Given the description of an element on the screen output the (x, y) to click on. 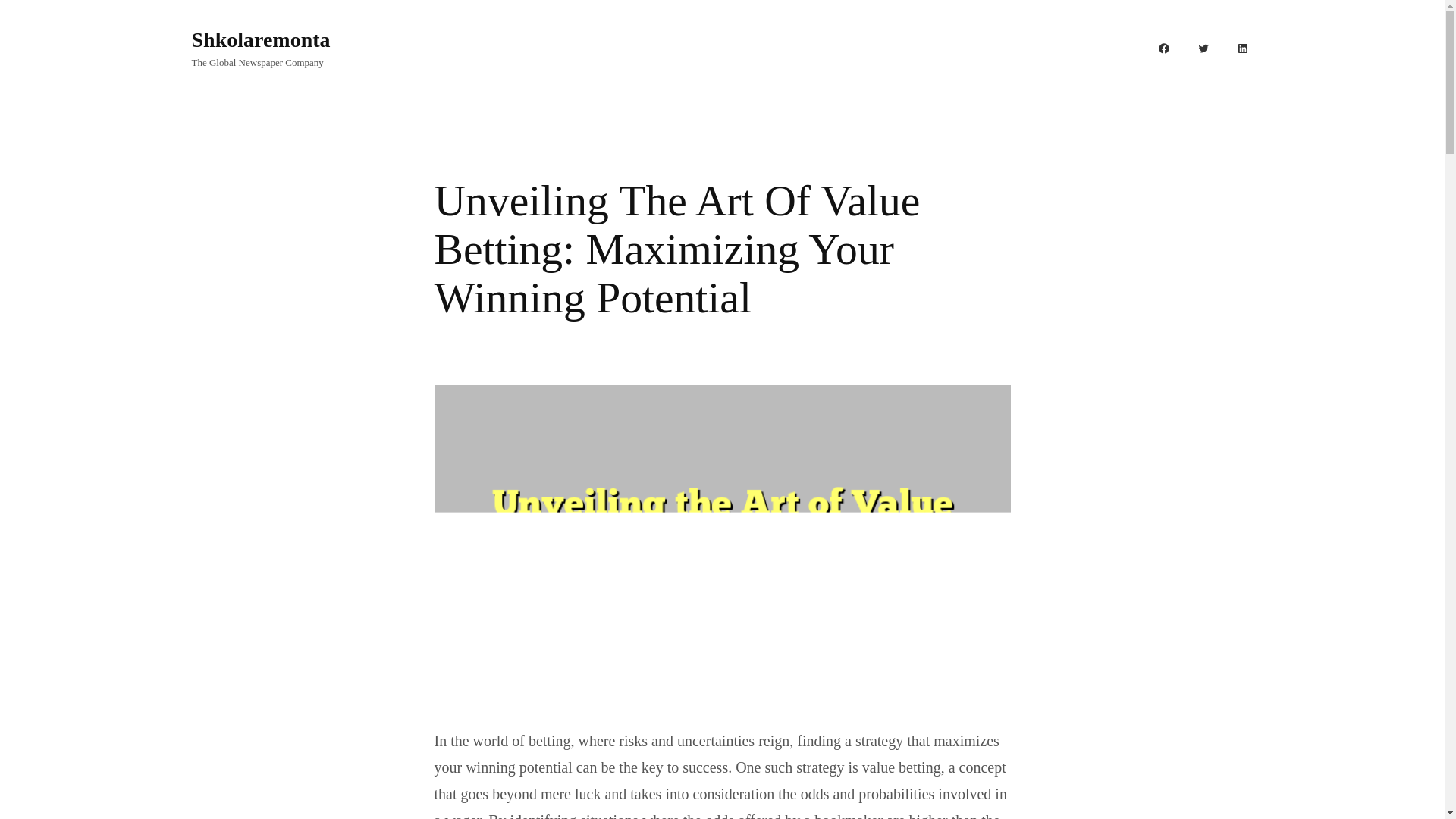
LinkedIn (1241, 47)
Facebook (1163, 47)
Shkolaremonta (260, 39)
Twitter (1202, 47)
